Given the description of an element on the screen output the (x, y) to click on. 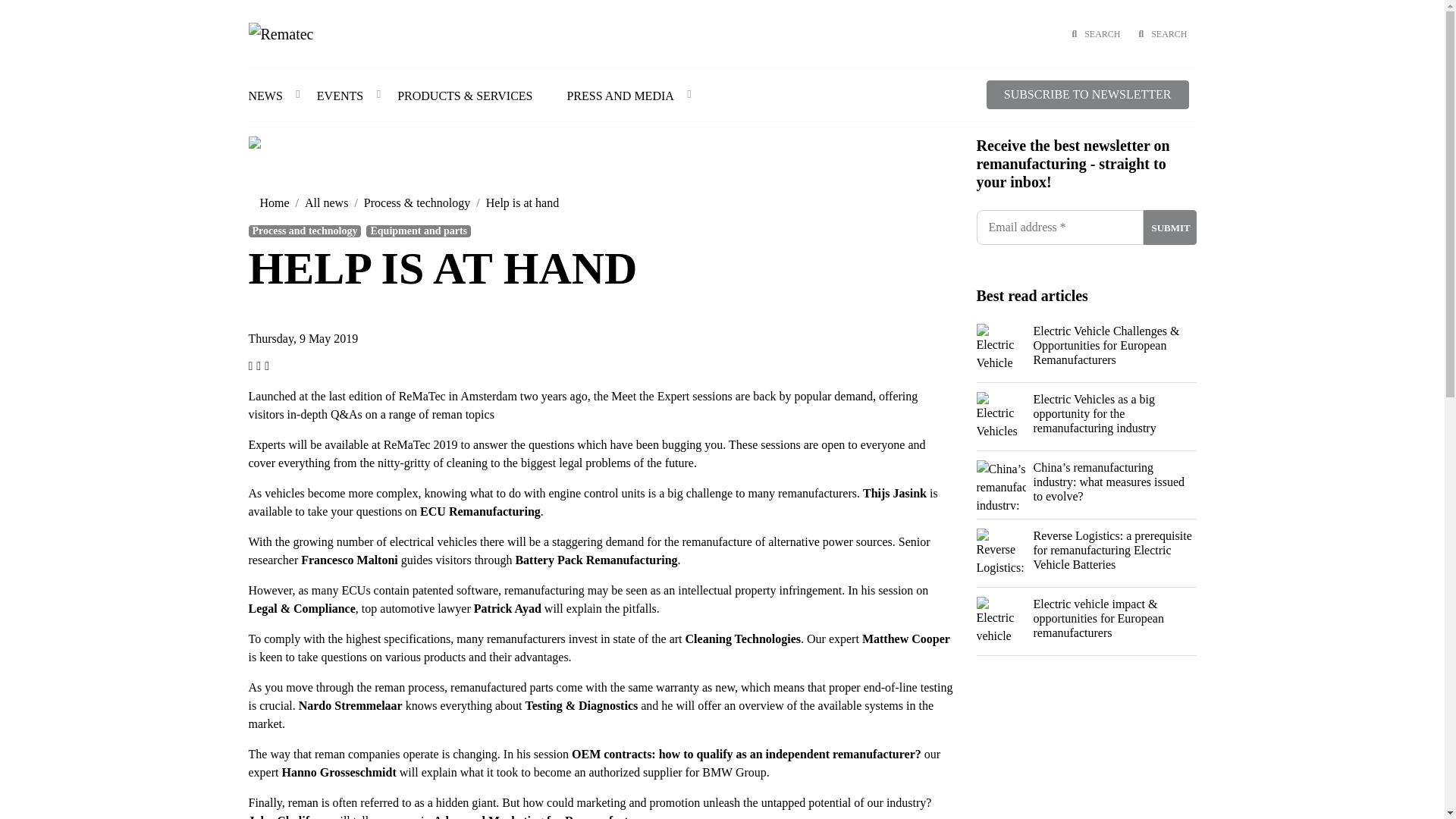
Submit (1169, 226)
All news (325, 202)
PRESS AND MEDIA (629, 94)
Submit (1169, 226)
EVENTS (349, 94)
SUBSCRIBE TO NEWSLETTER (1088, 94)
NEWS (274, 94)
SEARCH (1162, 33)
SEARCH (1095, 33)
